Given the description of an element on the screen output the (x, y) to click on. 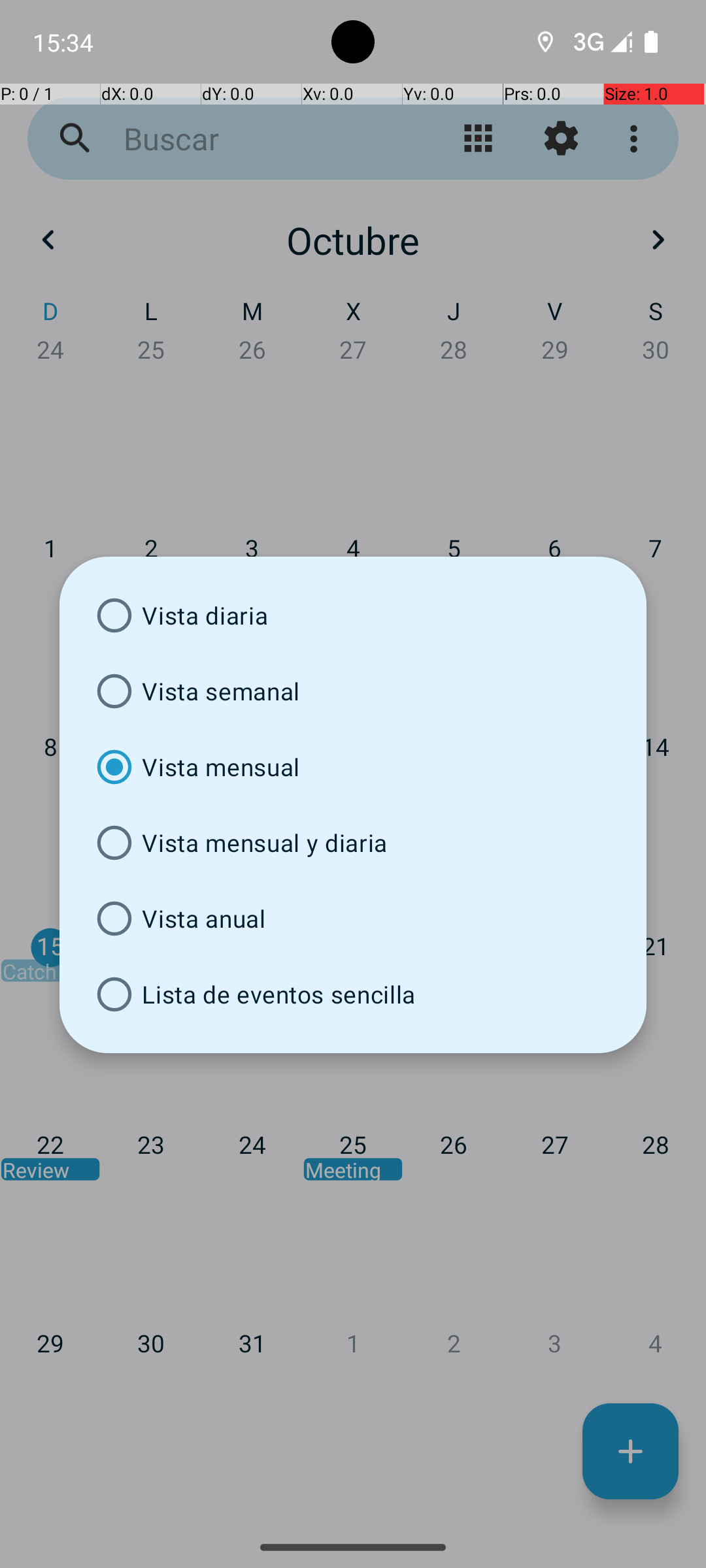
Vista diaria Element type: android.widget.RadioButton (352, 615)
Vista semanal Element type: android.widget.RadioButton (352, 691)
Vista mensual Element type: android.widget.RadioButton (352, 766)
Vista mensual y diaria Element type: android.widget.RadioButton (352, 842)
Vista anual Element type: android.widget.RadioButton (352, 918)
Lista de eventos sencilla Element type: android.widget.RadioButton (352, 994)
